Given the description of an element on the screen output the (x, y) to click on. 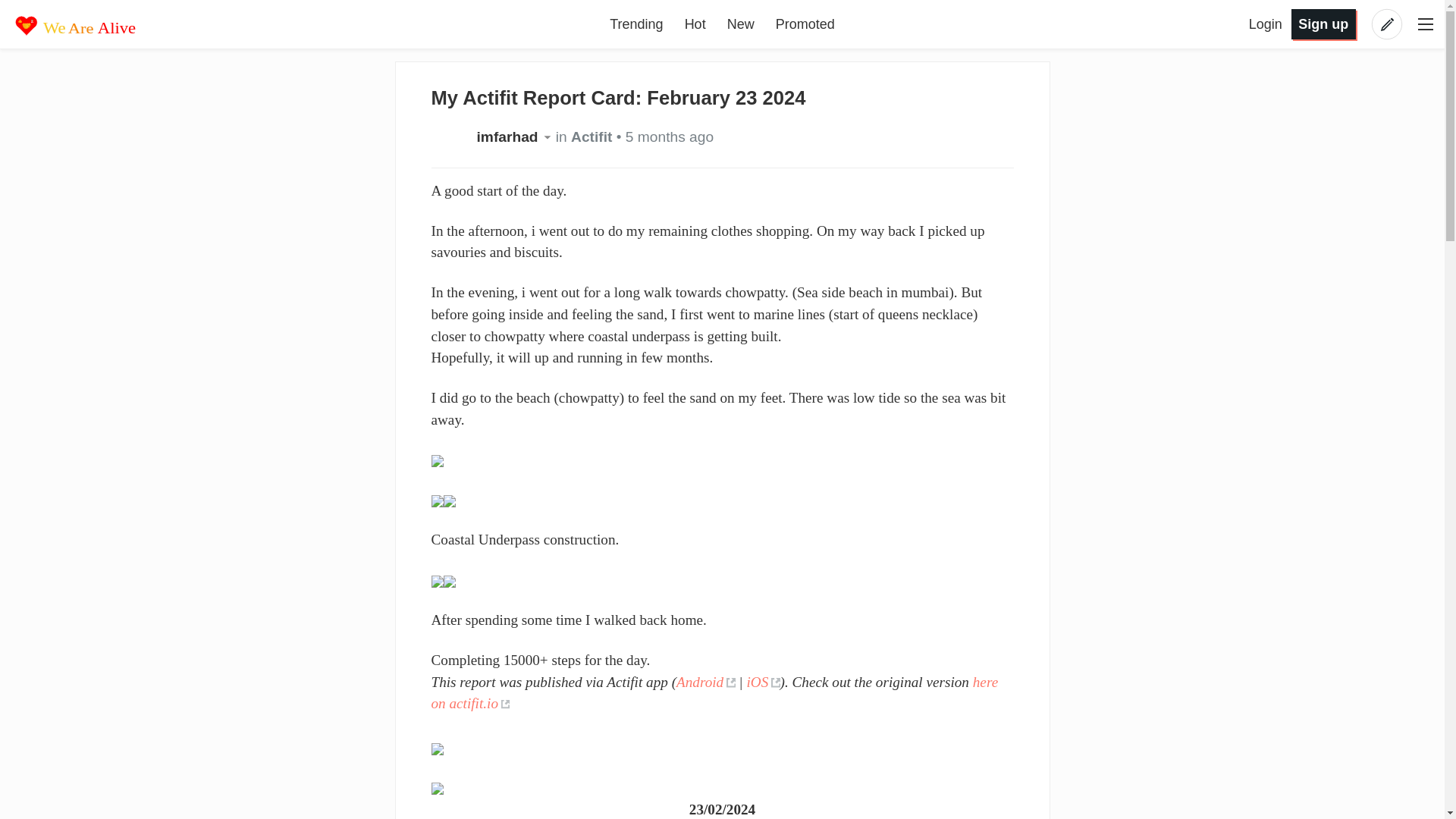
imfarhad (515, 136)
iOS (761, 682)
This link will take you away from the app (713, 692)
Android (706, 682)
This link will take you away from the app (706, 682)
Login (1267, 23)
This link will take you away from the app (761, 682)
Promoted (805, 23)
Sign up (1323, 23)
Trending (636, 23)
New (740, 23)
here on actifit.io (713, 692)
Actifit (590, 136)
Hot (695, 23)
